Given the description of an element on the screen output the (x, y) to click on. 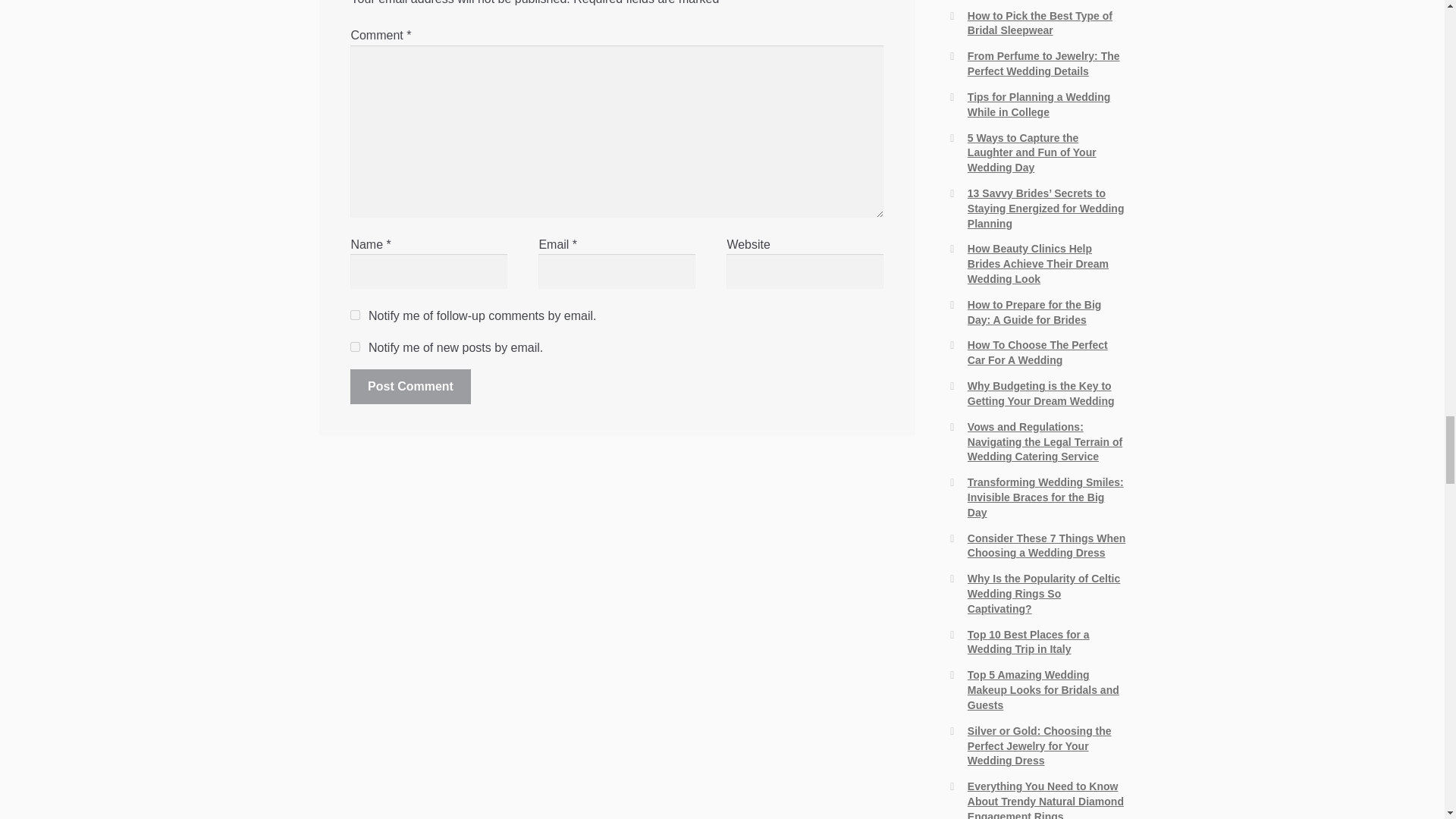
subscribe (354, 315)
subscribe (354, 347)
Post Comment (410, 386)
